Given the description of an element on the screen output the (x, y) to click on. 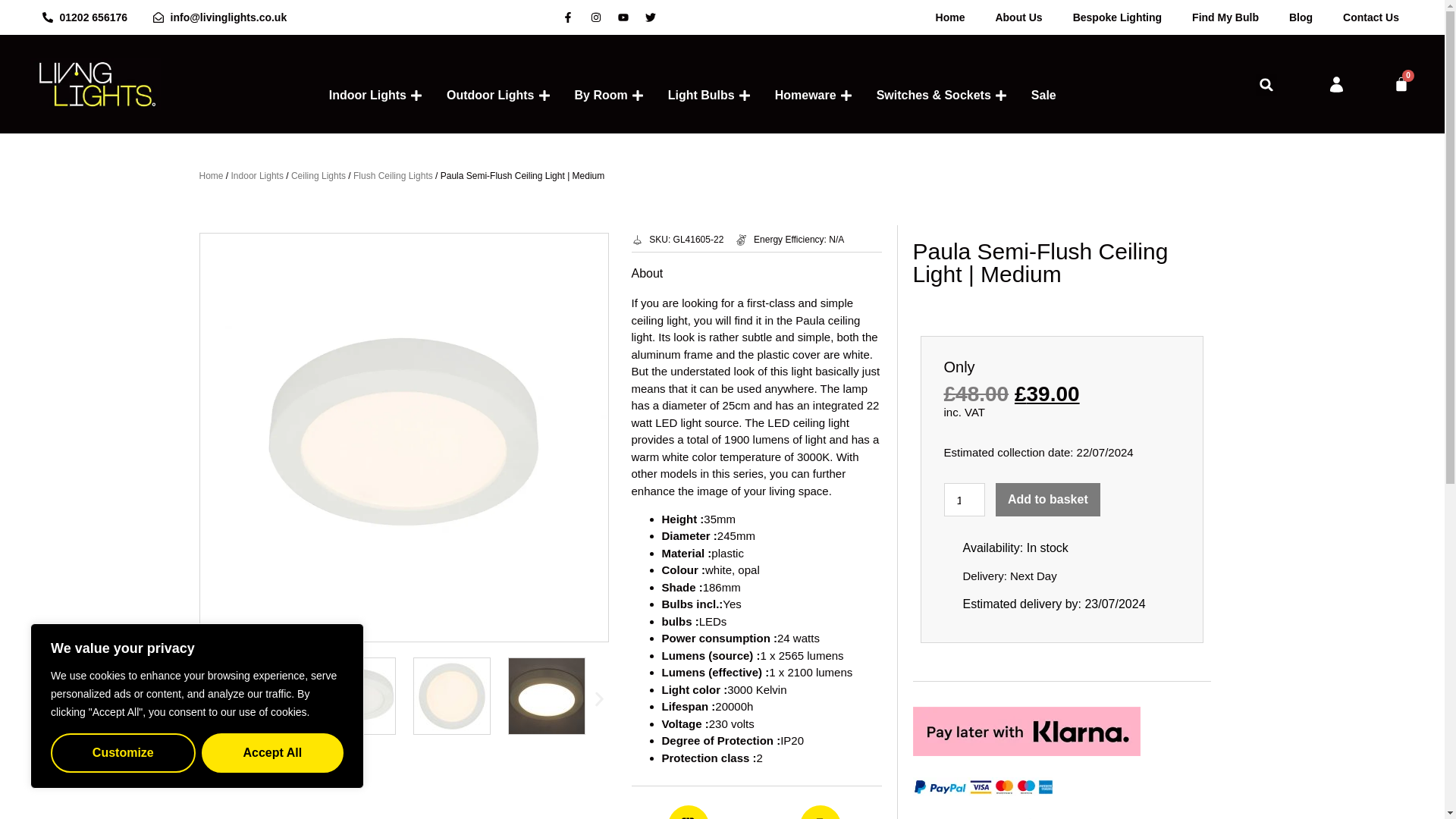
About Us (1018, 17)
Blog (1300, 17)
Bespoke Lighting (1117, 17)
01202 656176 (85, 17)
1 (963, 499)
Contact Us (1370, 17)
Find My Bulb (1225, 17)
Customize (122, 753)
Accept All (272, 753)
Home (949, 17)
Sale (1043, 95)
